Given the description of an element on the screen output the (x, y) to click on. 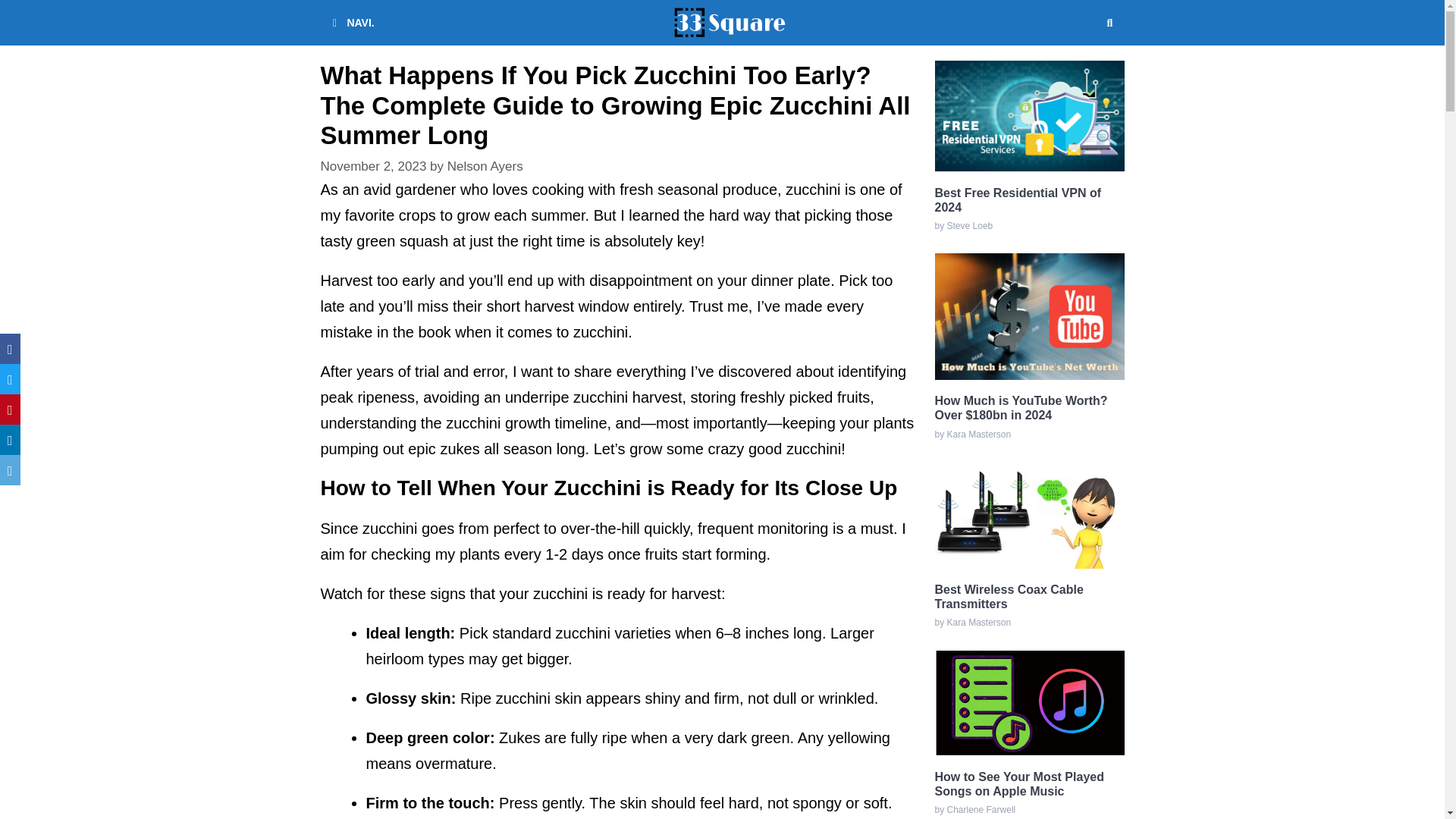
33rd Square (729, 22)
View all posts by Nelson Ayers (484, 165)
NAVI. (350, 22)
